Given the description of an element on the screen output the (x, y) to click on. 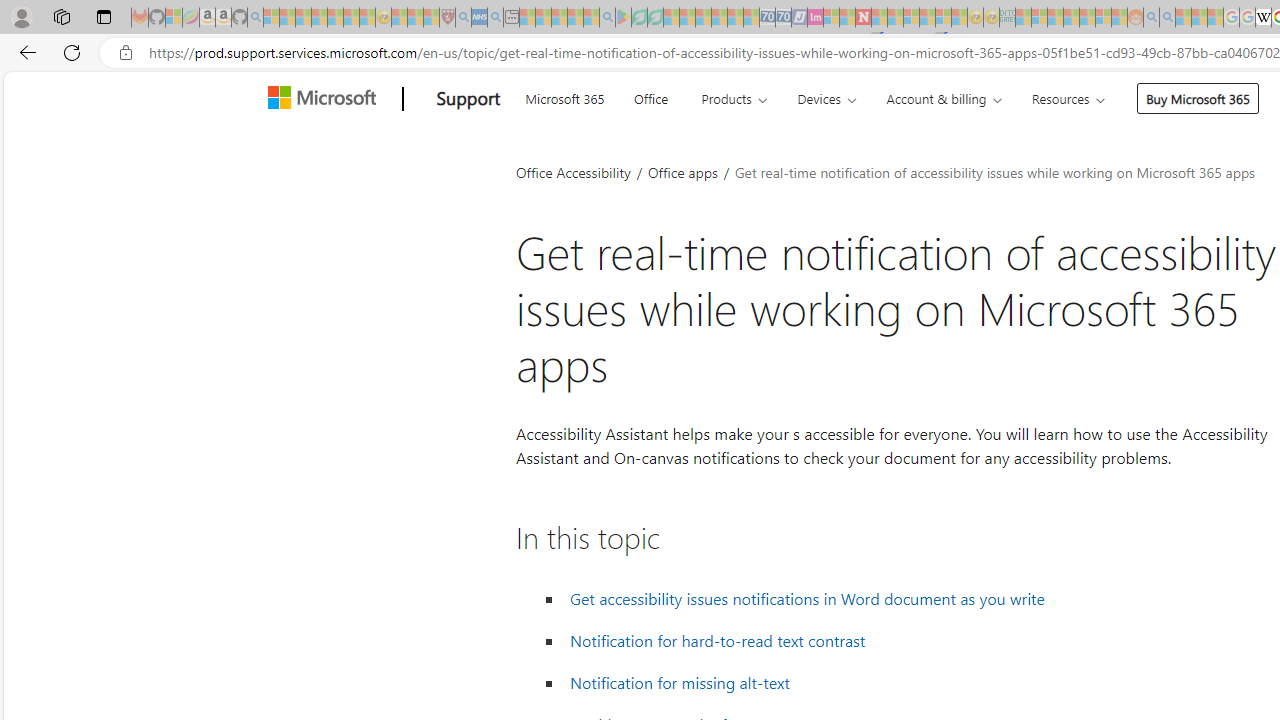
Office (650, 96)
Expert Portfolios - Sleeping (1071, 17)
Target page - Wikipedia (1263, 17)
Office Accessibility (573, 172)
Office apps  (683, 172)
Buy Microsoft 365 (1197, 97)
google - Search - Sleeping (607, 17)
Local - MSN - Sleeping (431, 17)
